Given the description of an element on the screen output the (x, y) to click on. 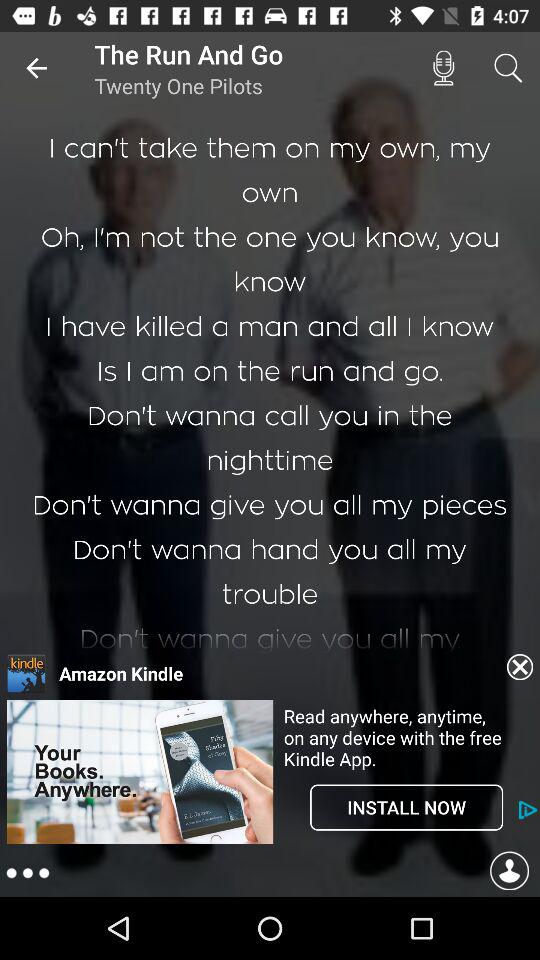
go to advertisement website (139, 771)
